Given the description of an element on the screen output the (x, y) to click on. 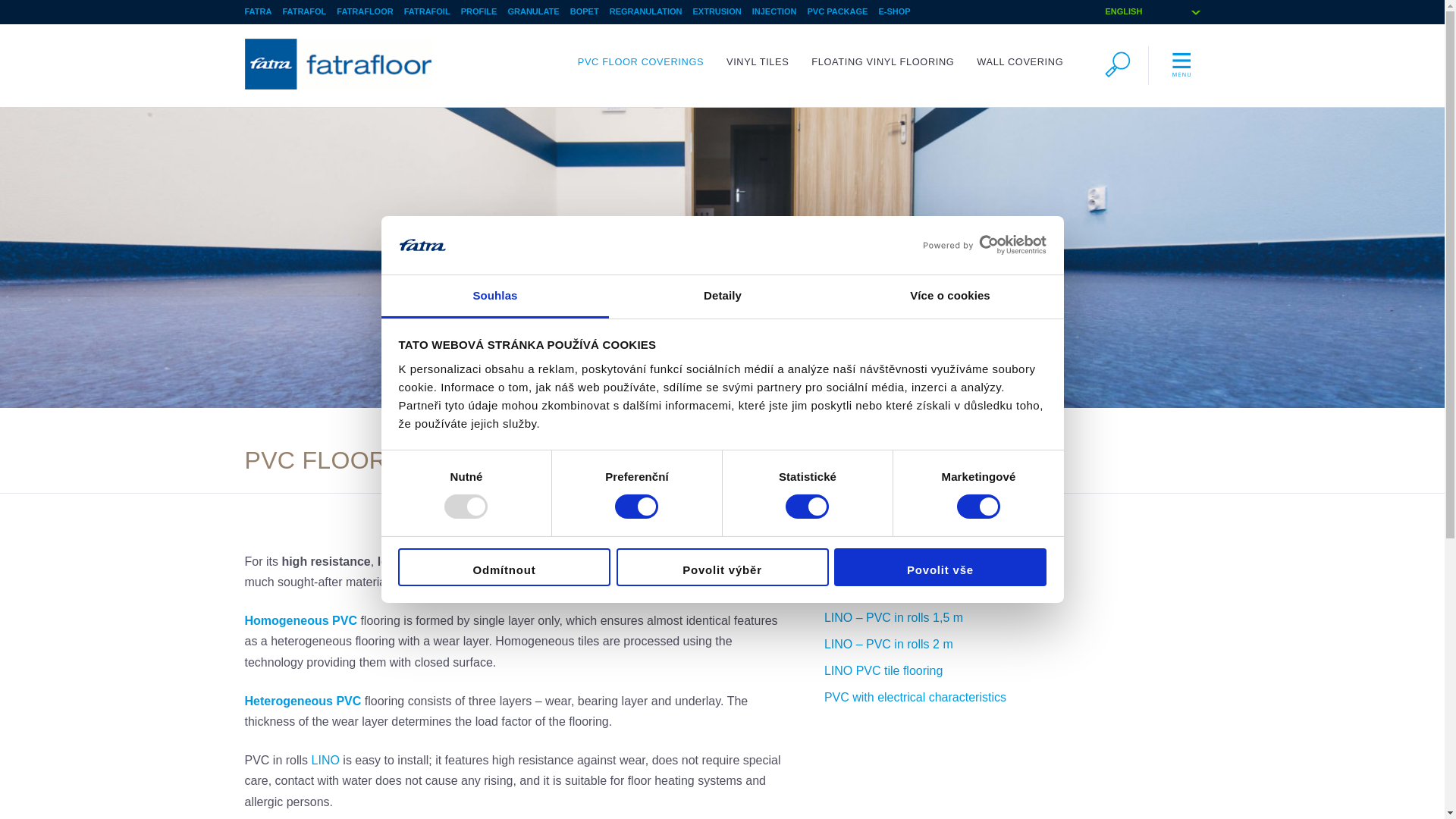
Detaily (721, 296)
Souhlas (494, 296)
